Given the description of an element on the screen output the (x, y) to click on. 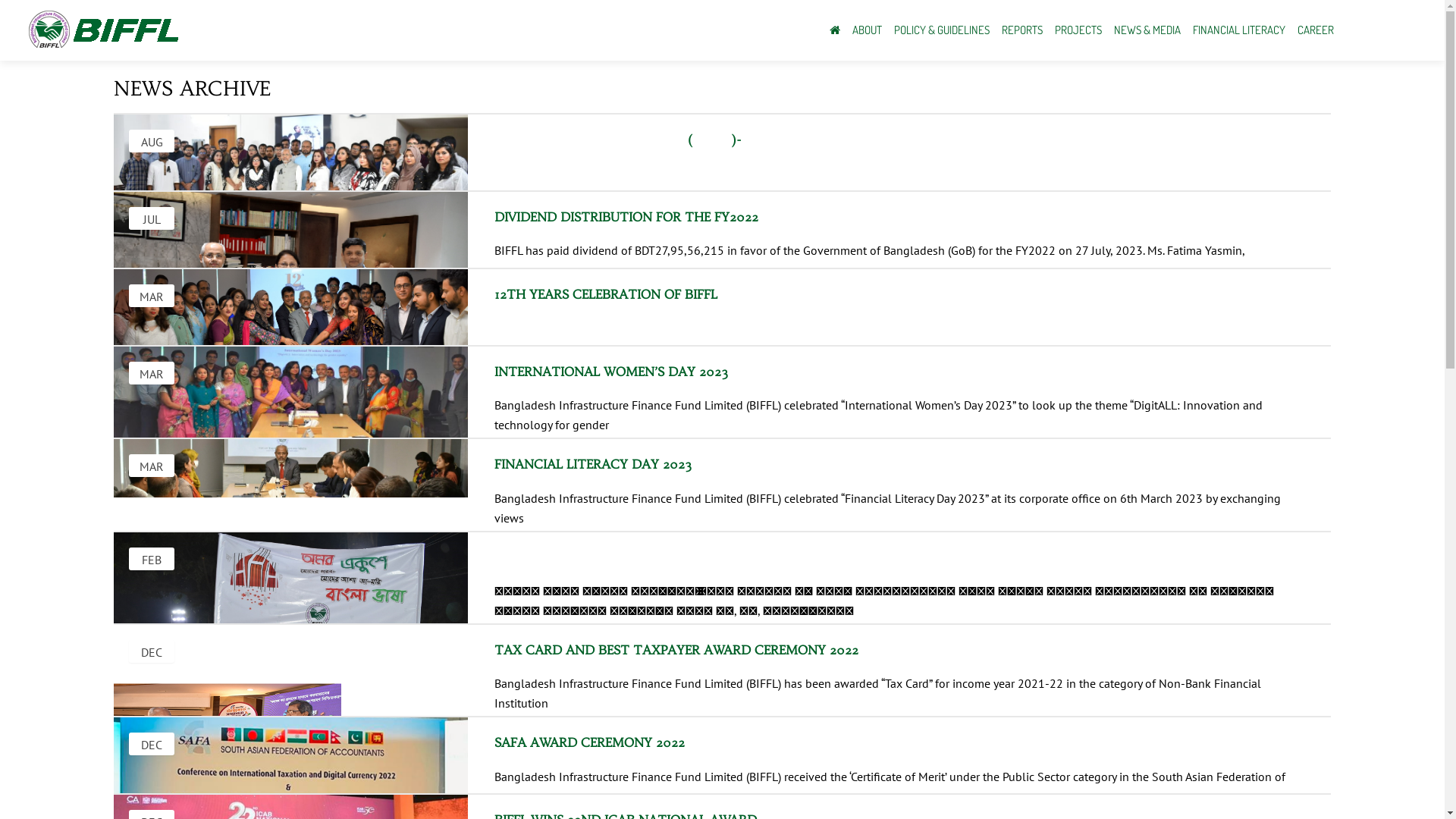
ABOUT Element type: text (867, 30)
REPORTS Element type: text (1021, 30)
FINANCIAL LITERACY DAY 2023 Element type: text (703, 454)
SAFA AWARD CEREMONY 2022 Element type: text (703, 732)
POLICY & GUIDELINES Element type: text (941, 30)
FINANCIAL LITERACY Element type: text (1238, 30)
DIVIDEND DISTRIBUTION FOR THE FY2022 Element type: text (703, 206)
PROJECTS Element type: text (1077, 30)
DISCLAIMER Element type: text (628, 657)
GREEN OFFICE Element type: text (334, 638)
BIFFL Hotline: +8809638124335 Element type: text (680, 697)
NEWS & MEDIA Element type: text (1146, 30)
REGULATORY DISCLOSURE Element type: text (665, 598)
SITEMAP Element type: text (619, 618)
E-TENDER Element type: text (322, 618)
TAX CARD AND BEST TAXPAYER AWARD CEREMONY 2022 Element type: text (703, 639)
BB Hotline: 16236 Element type: text (642, 677)
12TH YEARS CELEBRATION OF BIFFL Element type: text (703, 284)
CONTACT Element type: text (320, 657)
CAREER Element type: text (1315, 30)
DOWNLOADS Element type: text (329, 598)
SUBSCRIBE Element type: text (929, 726)
TERM OF USE Element type: text (631, 638)
BANKING PROFESSIONAL EXAMINATION Element type: text (401, 677)
